Given the description of an element on the screen output the (x, y) to click on. 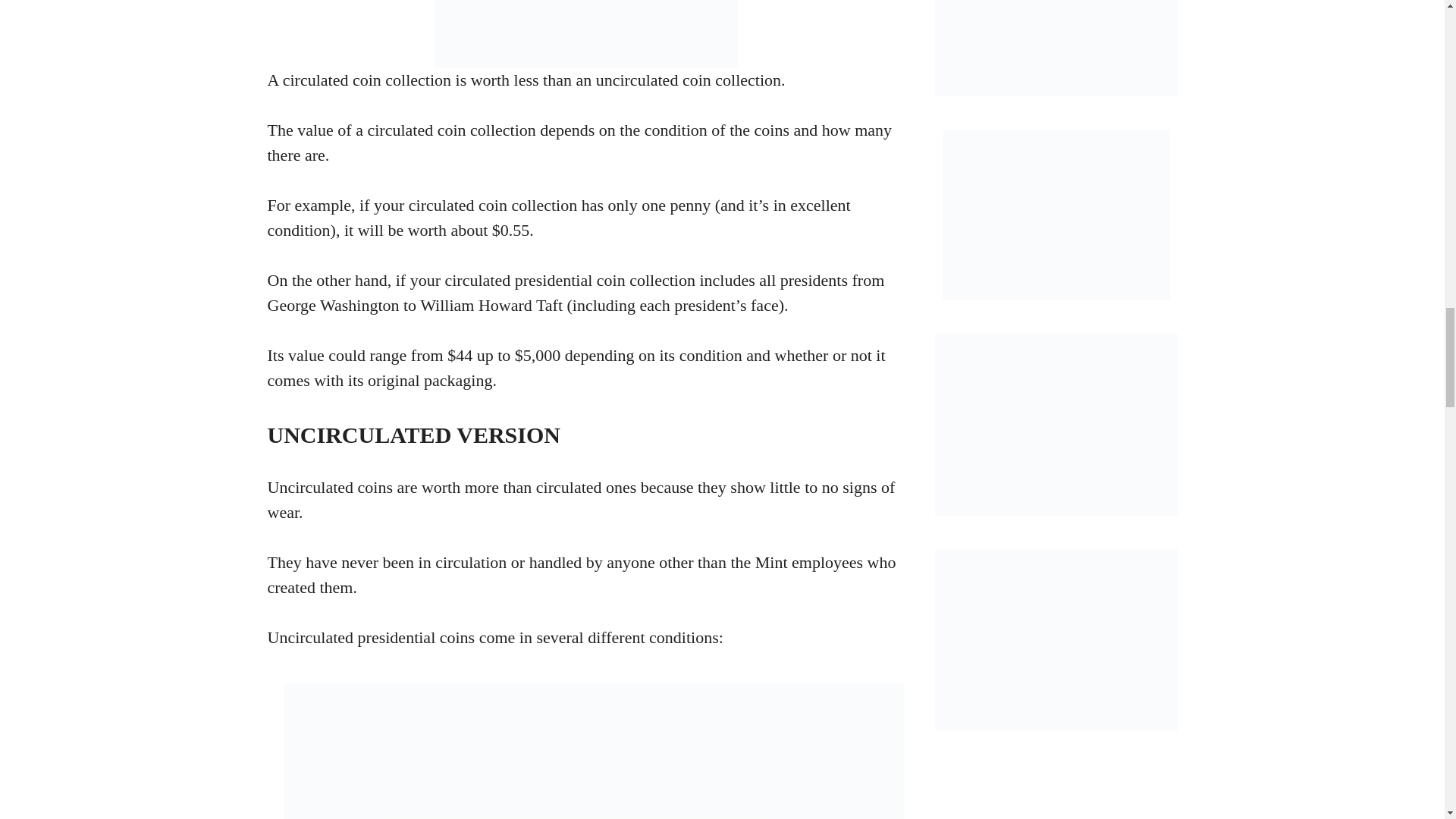
How Much is a Presidential Coin Collection Worth? 3 (584, 33)
How Much is a Presidential Coin Collection Worth? 4 (593, 751)
